Given the description of an element on the screen output the (x, y) to click on. 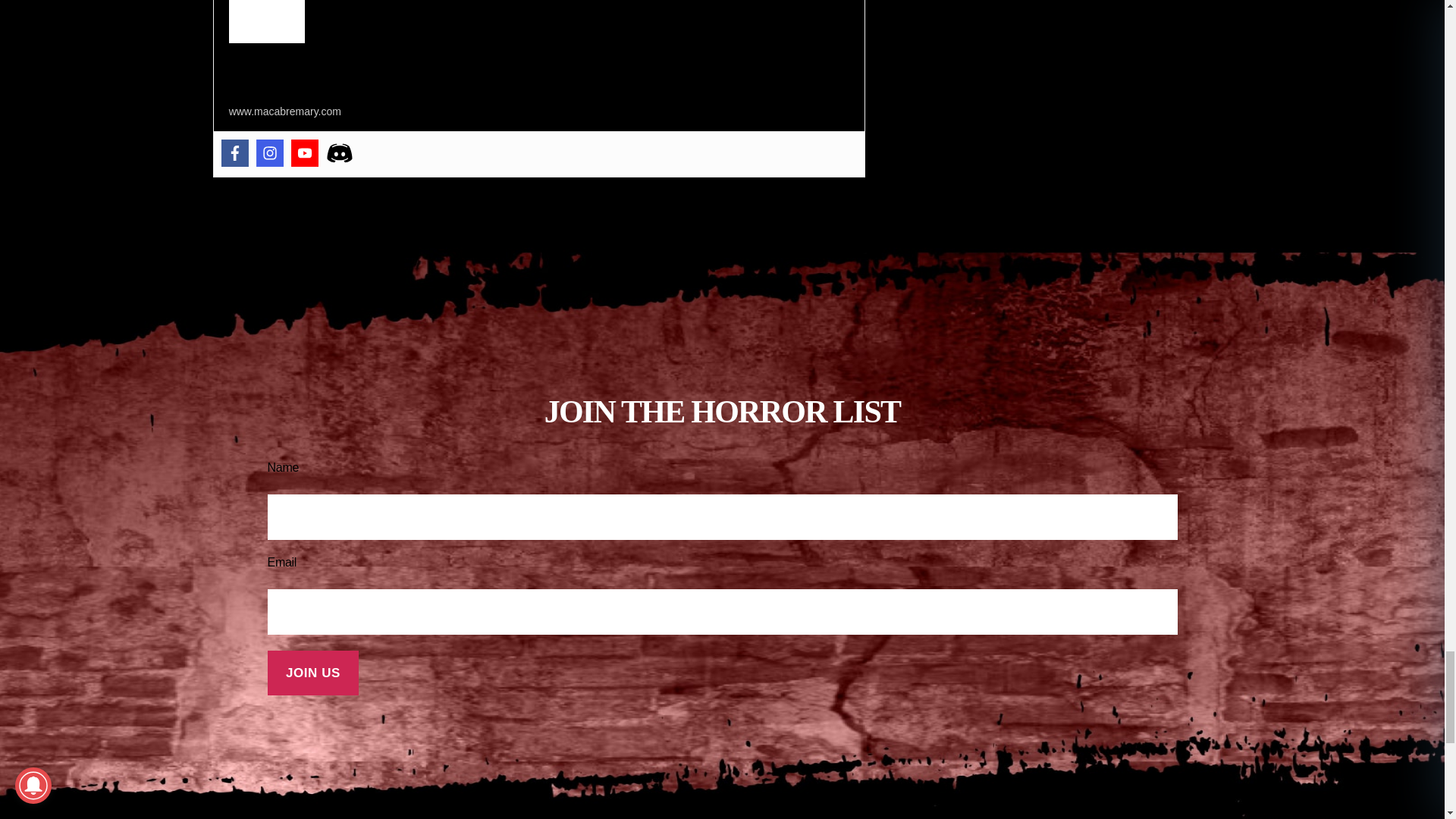
Join Us (312, 672)
Youtube (304, 153)
Facebook (234, 153)
Discord (339, 153)
Instagram (269, 153)
